Given the description of an element on the screen output the (x, y) to click on. 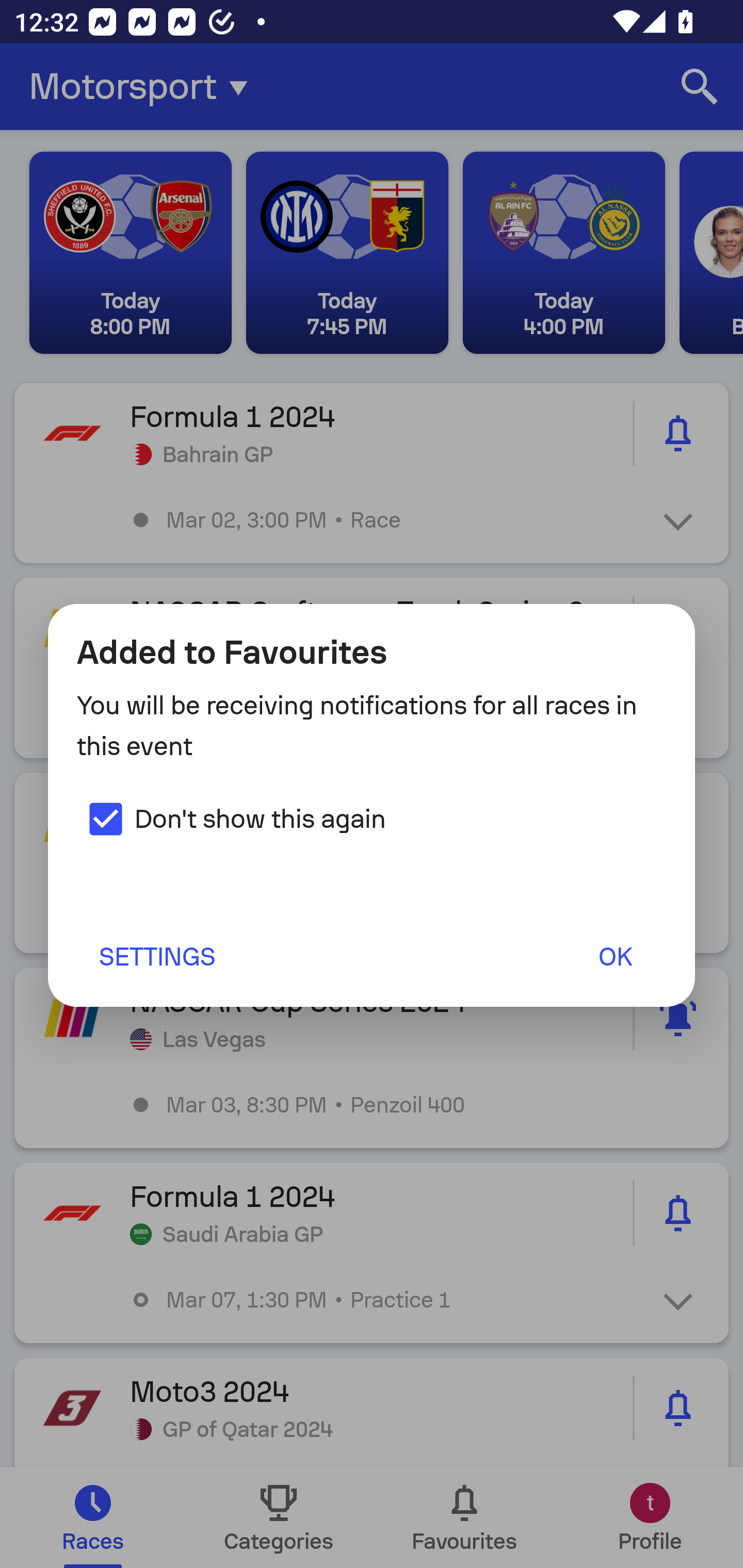
Don't show this again (231, 819)
SETTINGS (156, 956)
OK (615, 956)
